Given the description of an element on the screen output the (x, y) to click on. 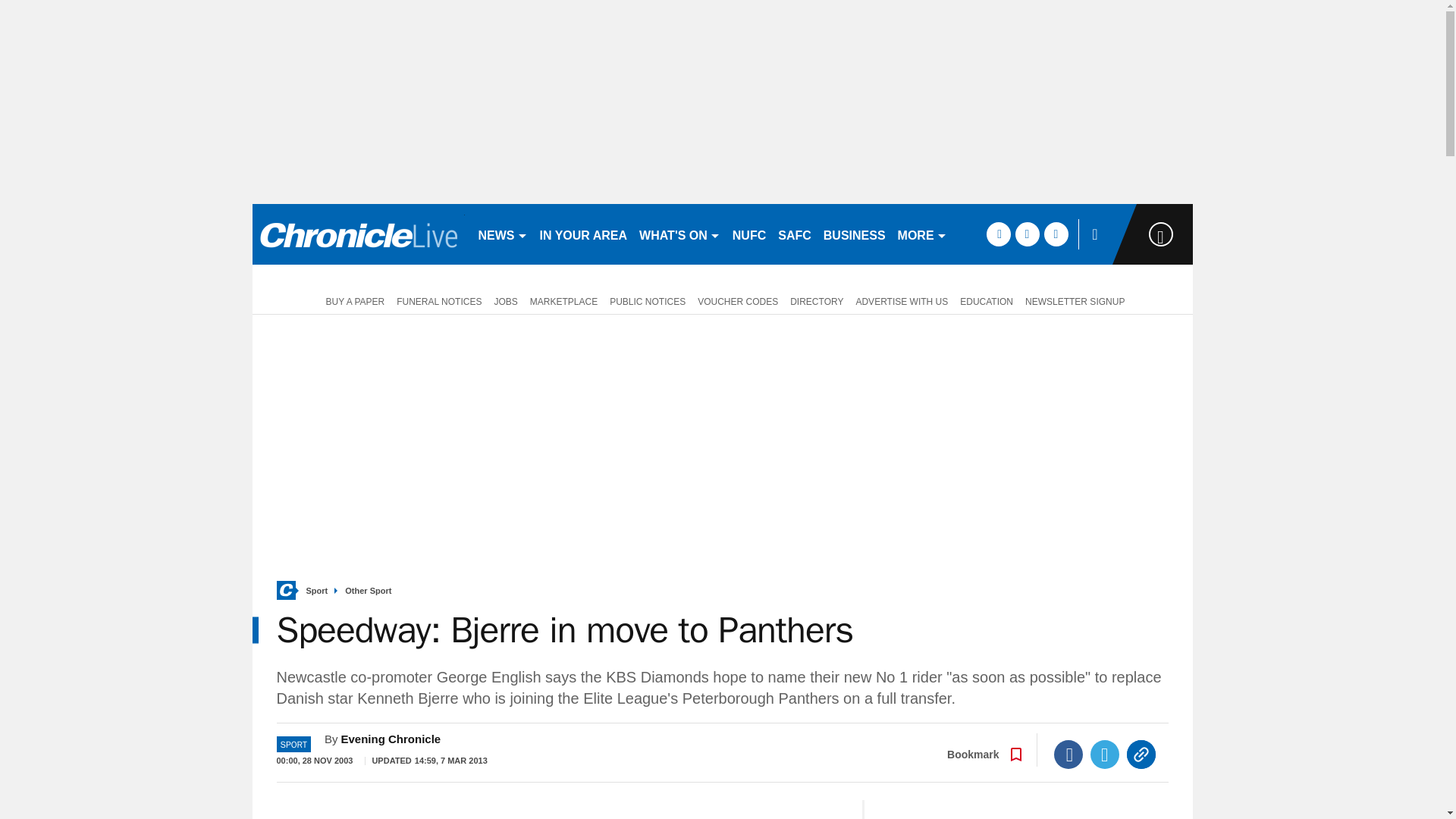
IN YOUR AREA (583, 233)
instagram (1055, 233)
WHAT'S ON (679, 233)
Twitter (1104, 754)
twitter (1026, 233)
NEWS (501, 233)
nechronicle (357, 233)
MORE (922, 233)
Facebook (1068, 754)
BUSINESS (853, 233)
